Given the description of an element on the screen output the (x, y) to click on. 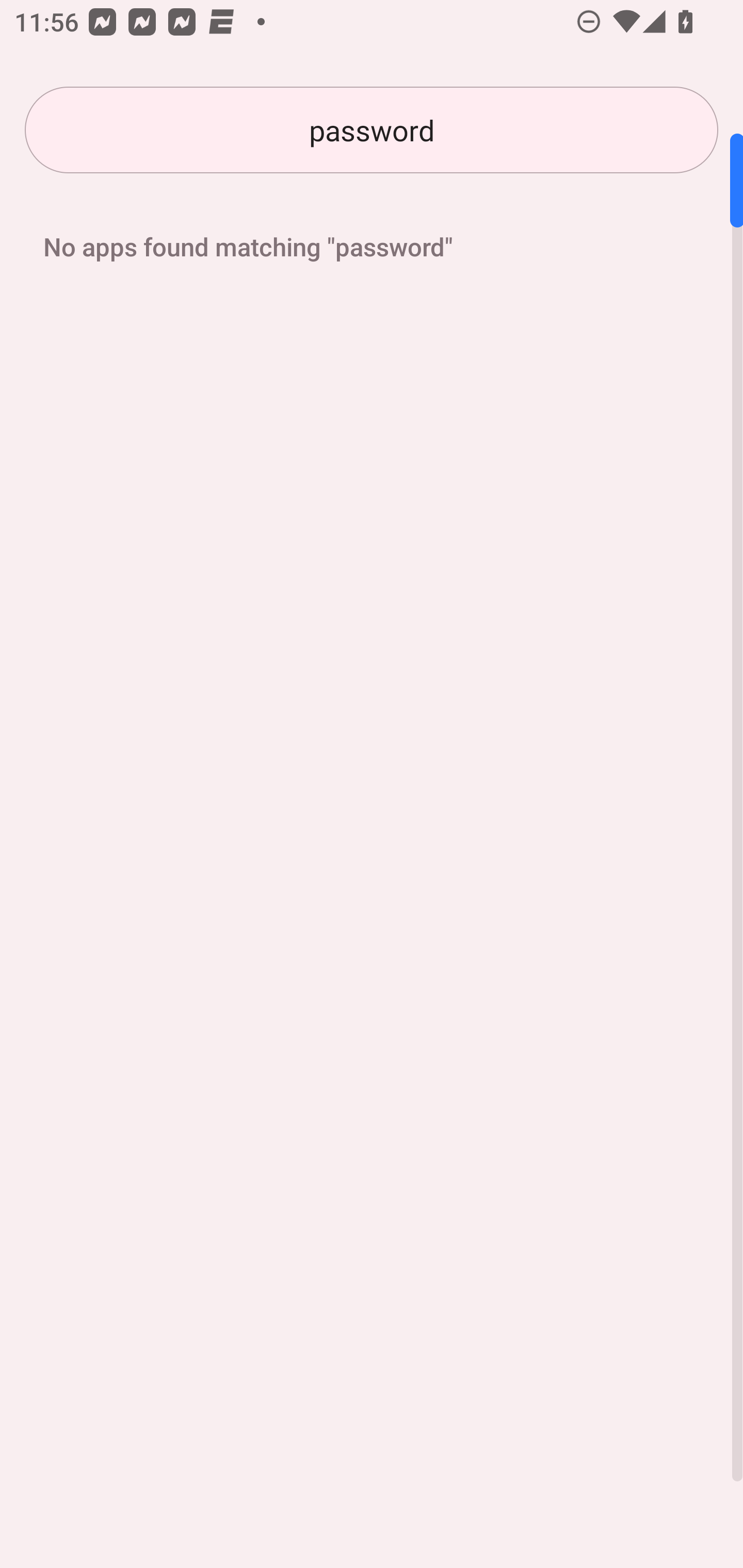
password (371, 130)
